Given the description of an element on the screen output the (x, y) to click on. 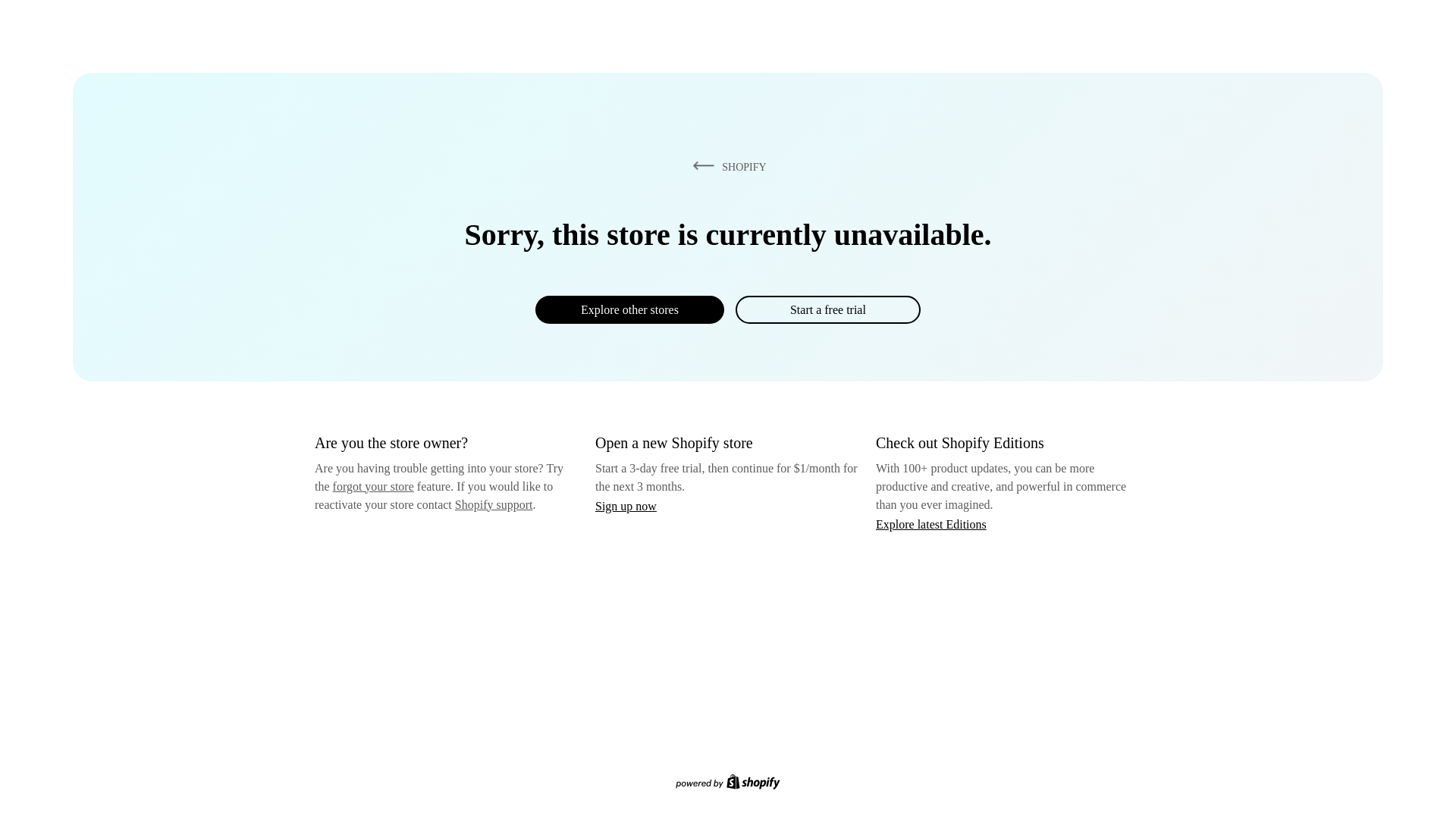
Explore other stores (629, 309)
Explore latest Editions (931, 523)
SHOPIFY (726, 166)
Sign up now (625, 505)
Start a free trial (827, 309)
forgot your store (373, 486)
Shopify support (493, 504)
